Given the description of an element on the screen output the (x, y) to click on. 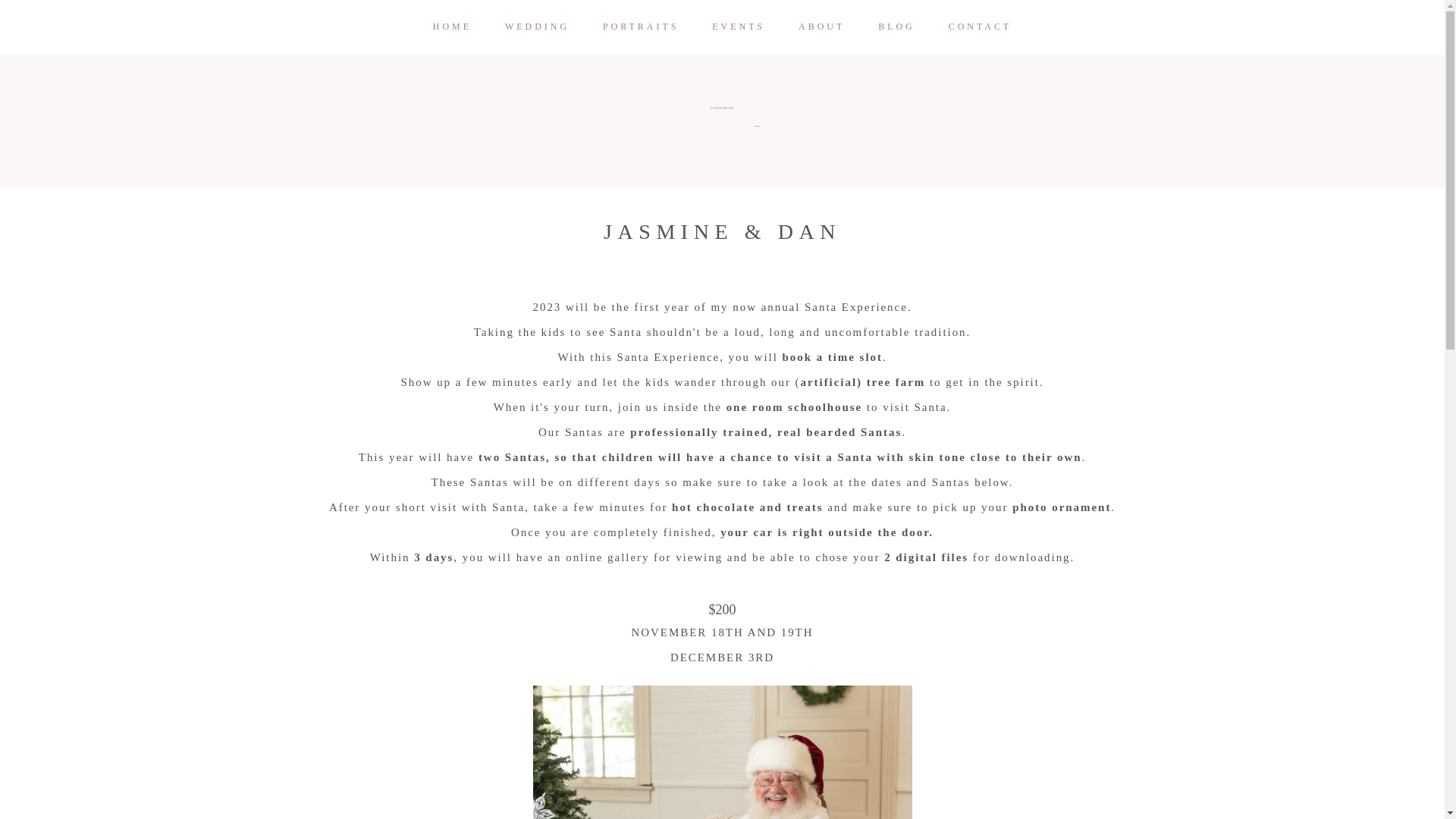
EVENTS (738, 26)
HOME (451, 26)
WEDDING (537, 26)
PORTRAITS (640, 26)
